Given the description of an element on the screen output the (x, y) to click on. 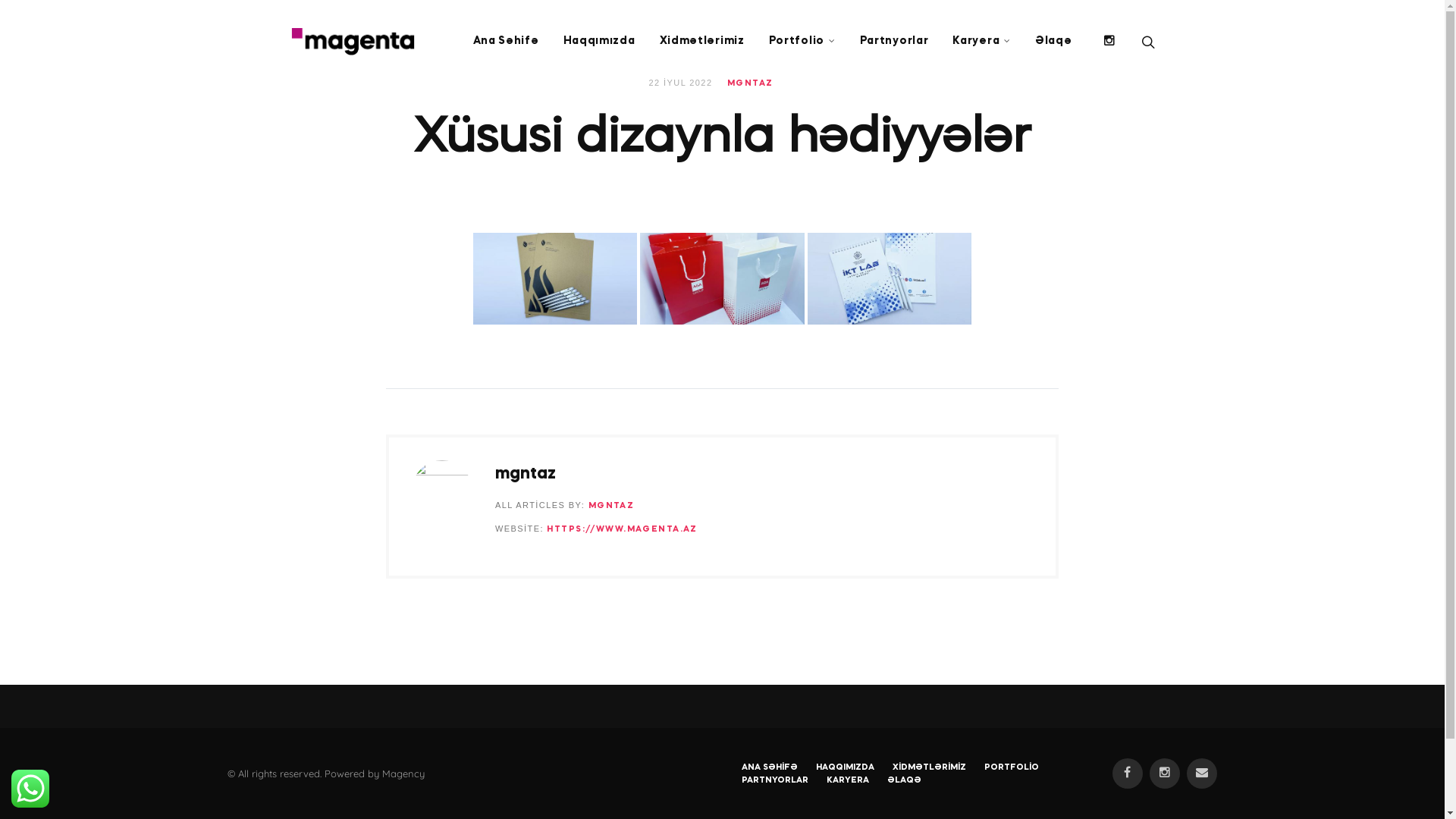
Portfolio Element type: text (801, 41)
MGNTAZ Element type: text (750, 83)
Partnyorlar Element type: text (894, 41)
KARYERA Element type: text (847, 780)
MGNTAZ Element type: text (611, 506)
HTTPS://WWW.MAGENTA.AZ Element type: text (621, 529)
HAQQIMIZDA Element type: text (844, 767)
PORTFOLIO Element type: text (1011, 767)
Karyera Element type: text (981, 41)
mgntaz Element type: text (525, 473)
PARTNYORLAR Element type: text (774, 780)
